Given the description of an element on the screen output the (x, y) to click on. 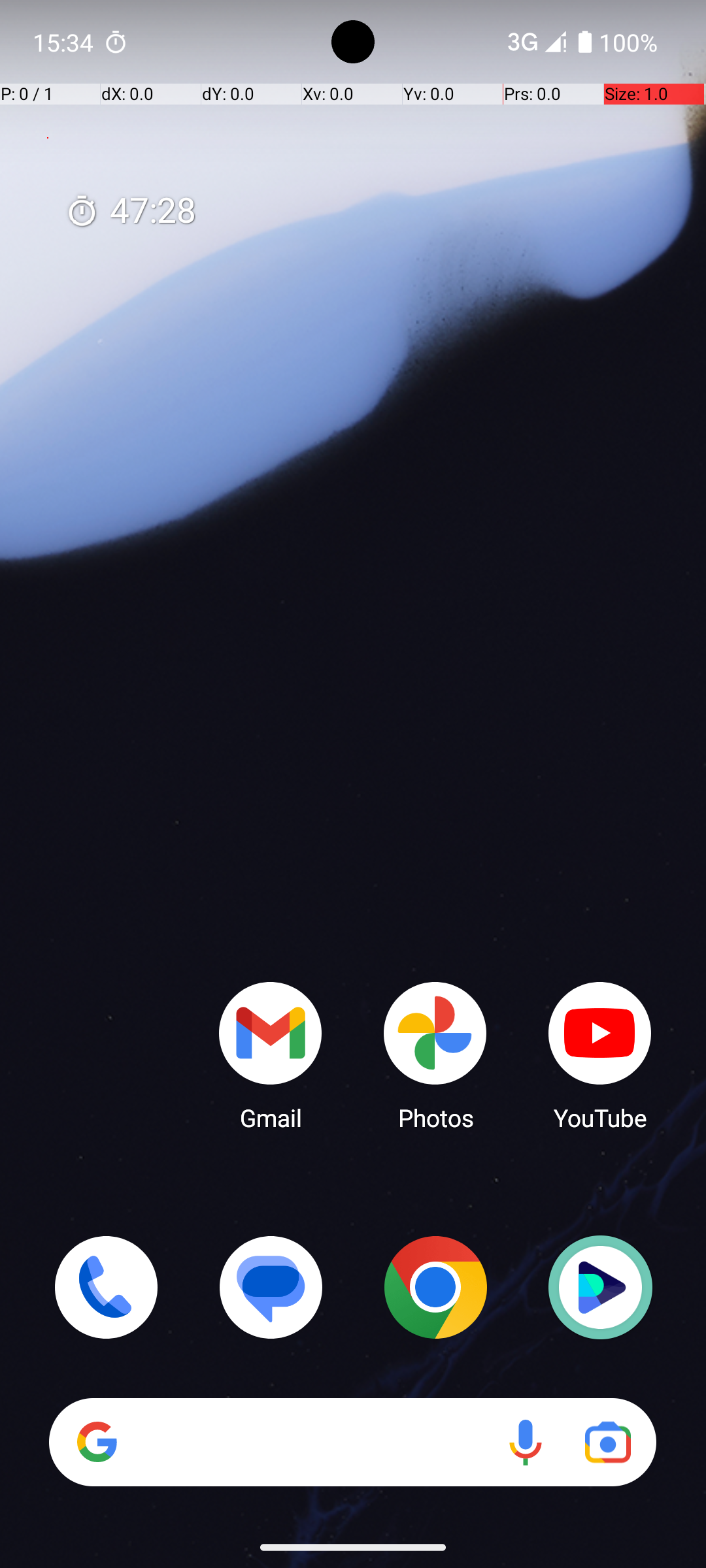
47:28 Element type: android.widget.TextView (130, 210)
